Given the description of an element on the screen output the (x, y) to click on. 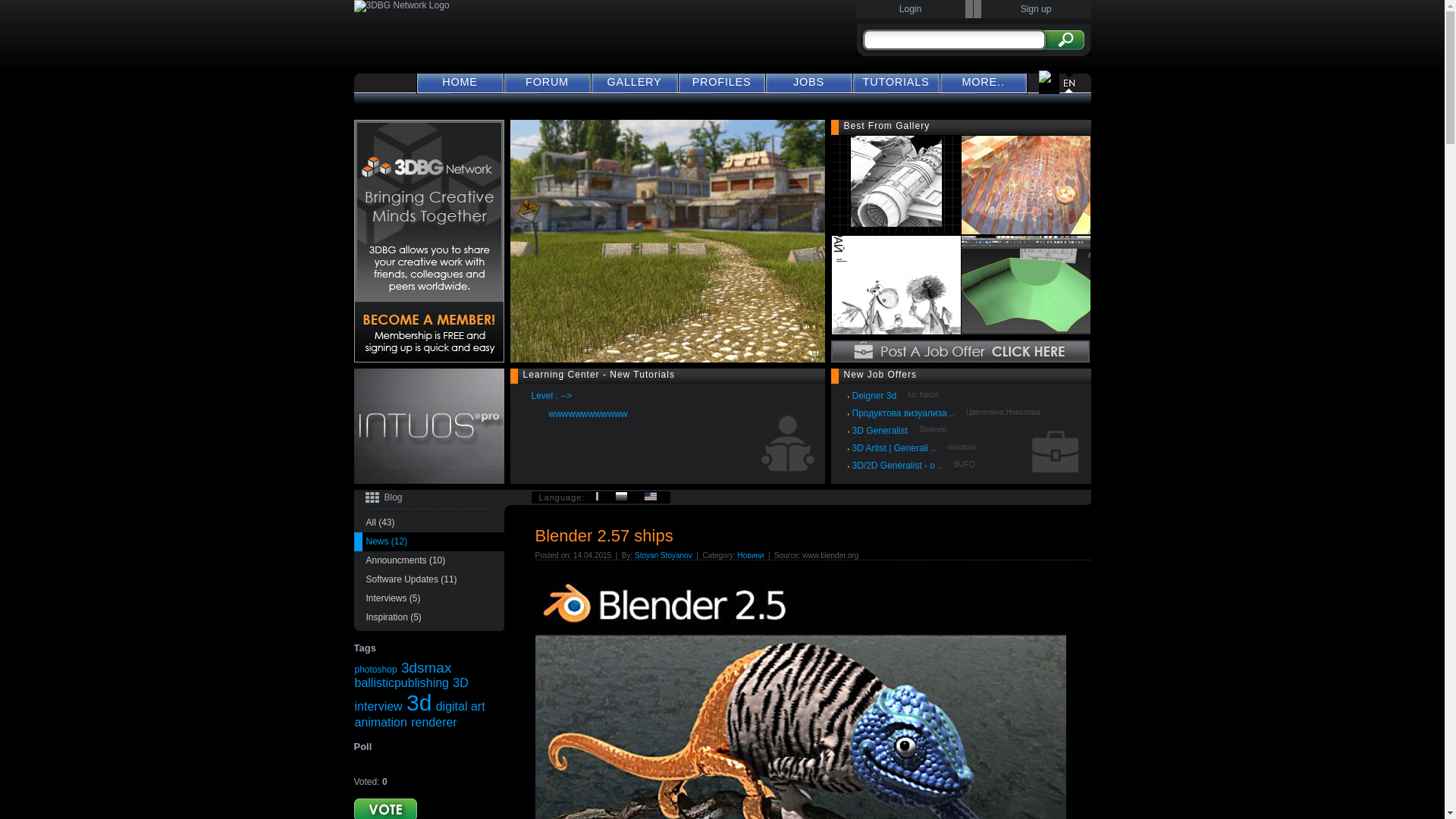
photoshop Element type: text (375, 669)
JOBS Element type: text (808, 82)
digital art Element type: text (460, 706)
Software Updates (11) Element type: text (428, 579)
ballisticpublishing Element type: text (401, 682)
News (12) Element type: text (428, 541)
GALLERY Element type: text (634, 82)
HOME Element type: text (460, 82)
    Element type: text (622, 497)
All (43) Element type: text (428, 522)
    Element type: text (651, 497)
  Element type: text (1025, 284)
wwwwwwwwwwww Element type: text (590, 414)
Announcments (10) Element type: text (428, 560)
  Element type: text (1025, 184)
Deigner 3d Element type: text (877, 395)
Inspiration (5) Element type: text (428, 617)
interview Element type: text (377, 706)
Level : --> Element type: text (553, 395)
animation Element type: text (380, 722)
Blender 2.57 ships Element type: text (604, 535)
3D Generalist Element type: text (882, 430)
3dsmax Element type: text (426, 667)
FORUM Element type: text (546, 82)
Stoyan Stoyanov Element type: text (663, 555)
3D Artist | Generali .. Element type: text (896, 448)
Login Element type: text (910, 8)
Sign up Element type: text (1035, 8)
Interviews (5) Element type: text (428, 598)
  Element type: text (895, 184)
renderer Element type: text (433, 722)
3D Element type: text (459, 682)
3D/2D Generalist - o .. Element type: text (899, 465)
TUTORIALS Element type: text (895, 82)
    Element type: text (599, 497)
All Element type: hover (599, 497)
MORE.. Element type: text (983, 82)
PROFILES Element type: text (720, 82)
  Element type: text (895, 284)
3d Element type: text (418, 702)
